Given the description of an element on the screen output the (x, y) to click on. 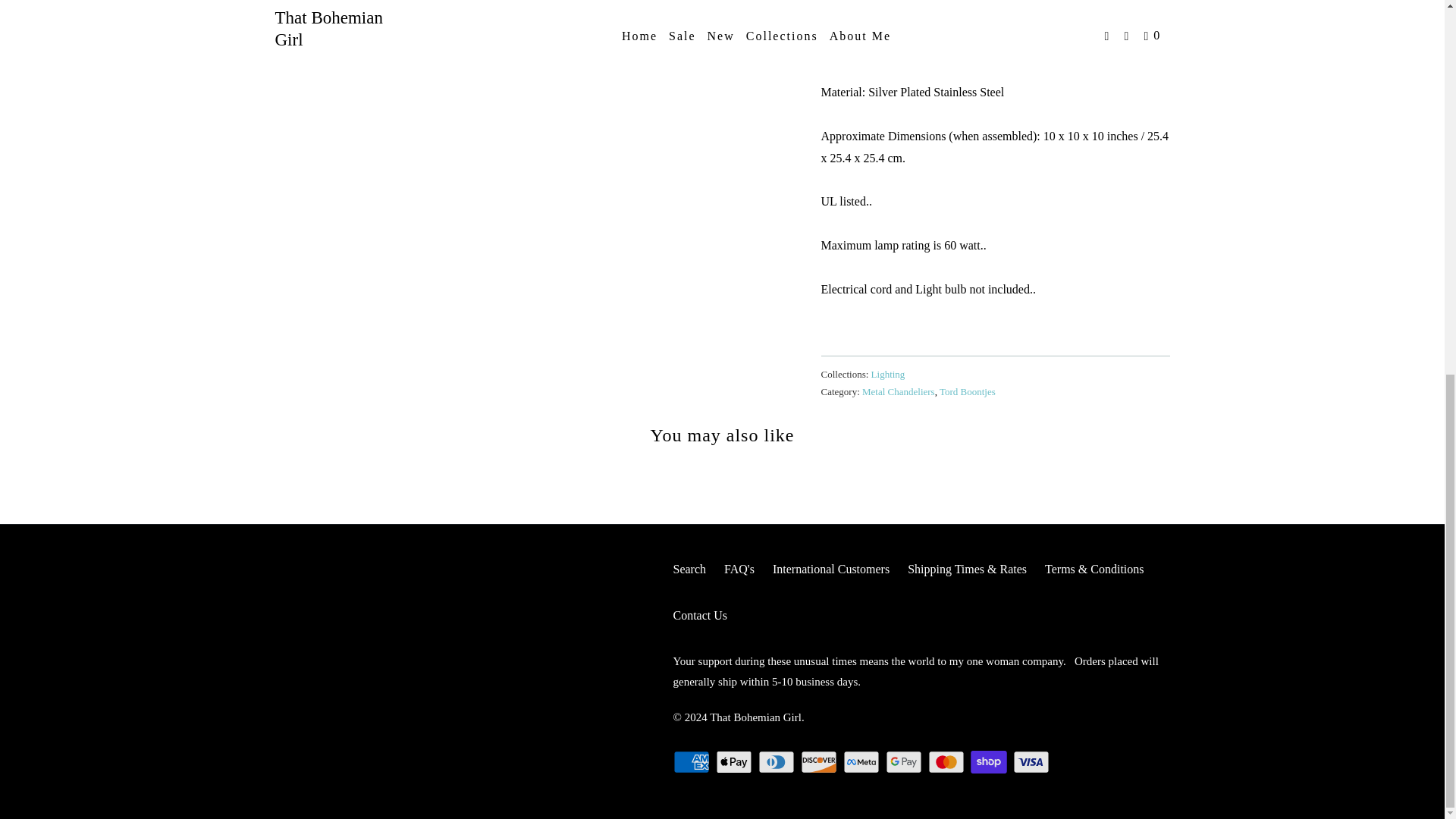
American Express (692, 761)
International Customers (831, 569)
Tord Boontjes (967, 391)
Diners Club (777, 761)
Metal Chandeliers (897, 391)
Lighting (887, 374)
Apple Pay (735, 761)
Contact Us (700, 616)
FAQ's (738, 569)
Shop Pay (990, 761)
